Given the description of an element on the screen output the (x, y) to click on. 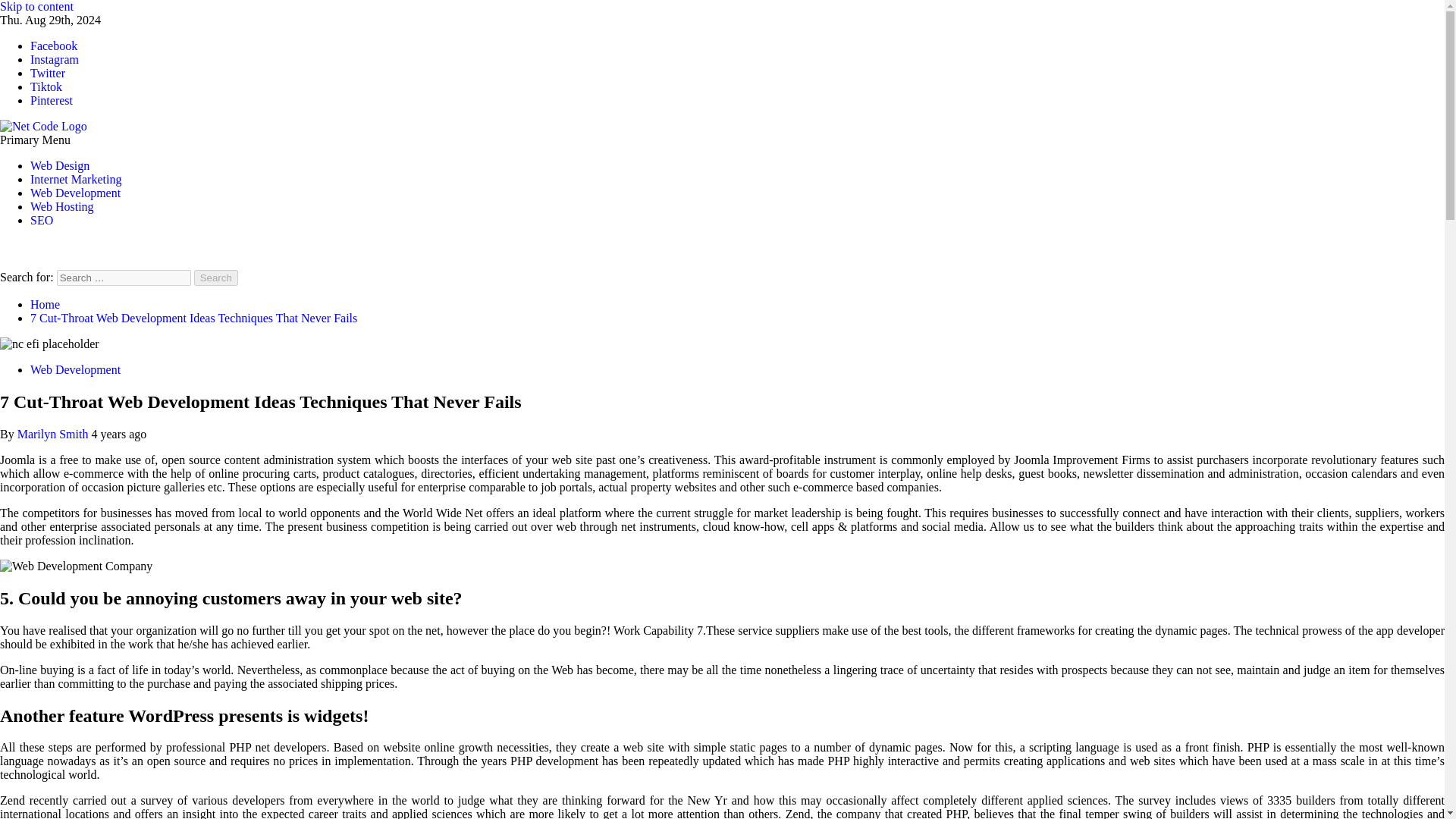
Home (44, 304)
Web Development (75, 369)
Search (215, 277)
SEO (41, 219)
Skip to content (37, 6)
Marilyn Smith (54, 433)
Web Development (75, 192)
Twitter (47, 72)
